Given the description of an element on the screen output the (x, y) to click on. 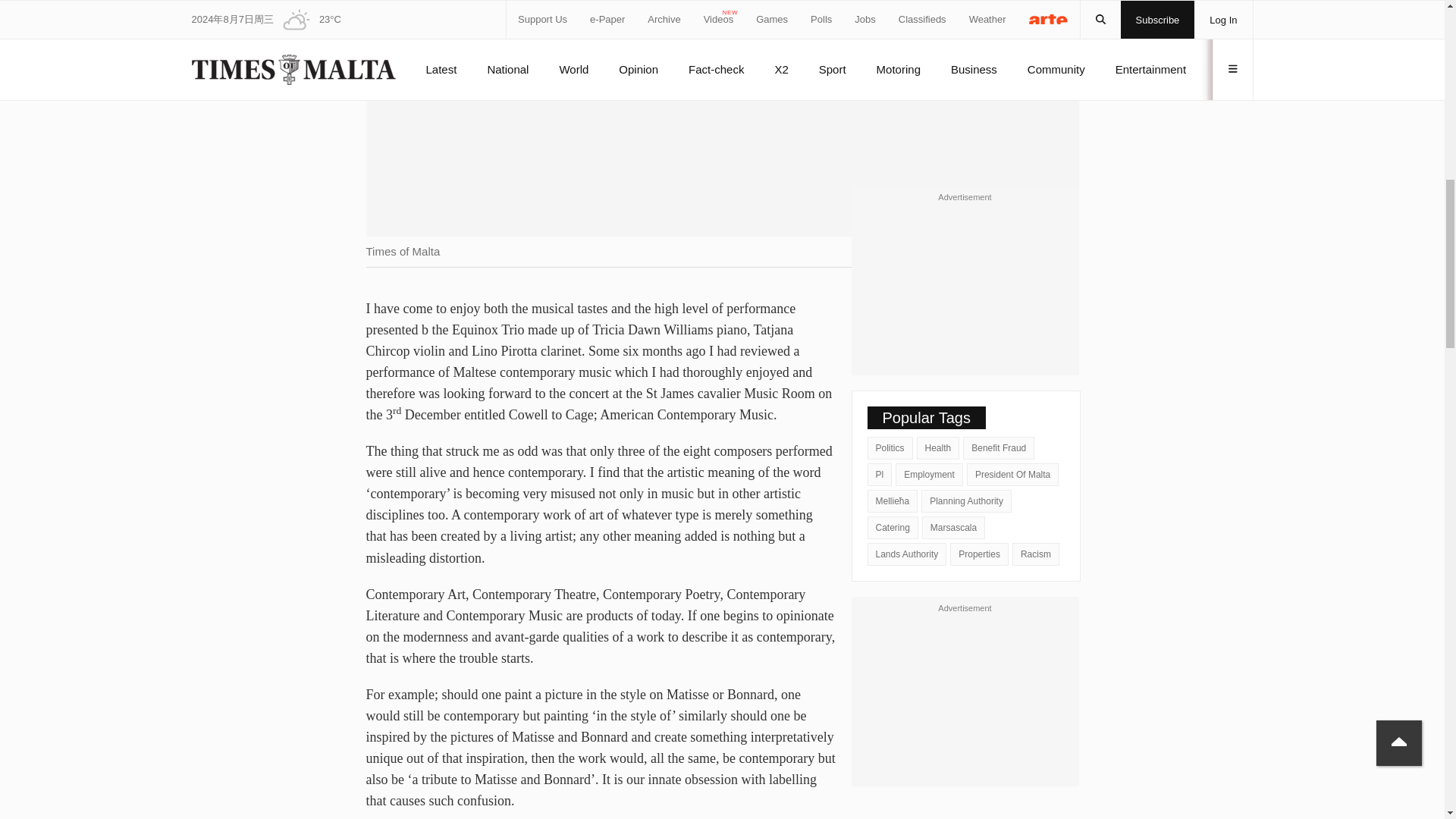
President Of Malta (1012, 474)
Health (938, 447)
Benefit Fraud (997, 447)
Pl (879, 474)
Politics (889, 447)
Employment (928, 474)
Planning Authority (966, 500)
